Given the description of an element on the screen output the (x, y) to click on. 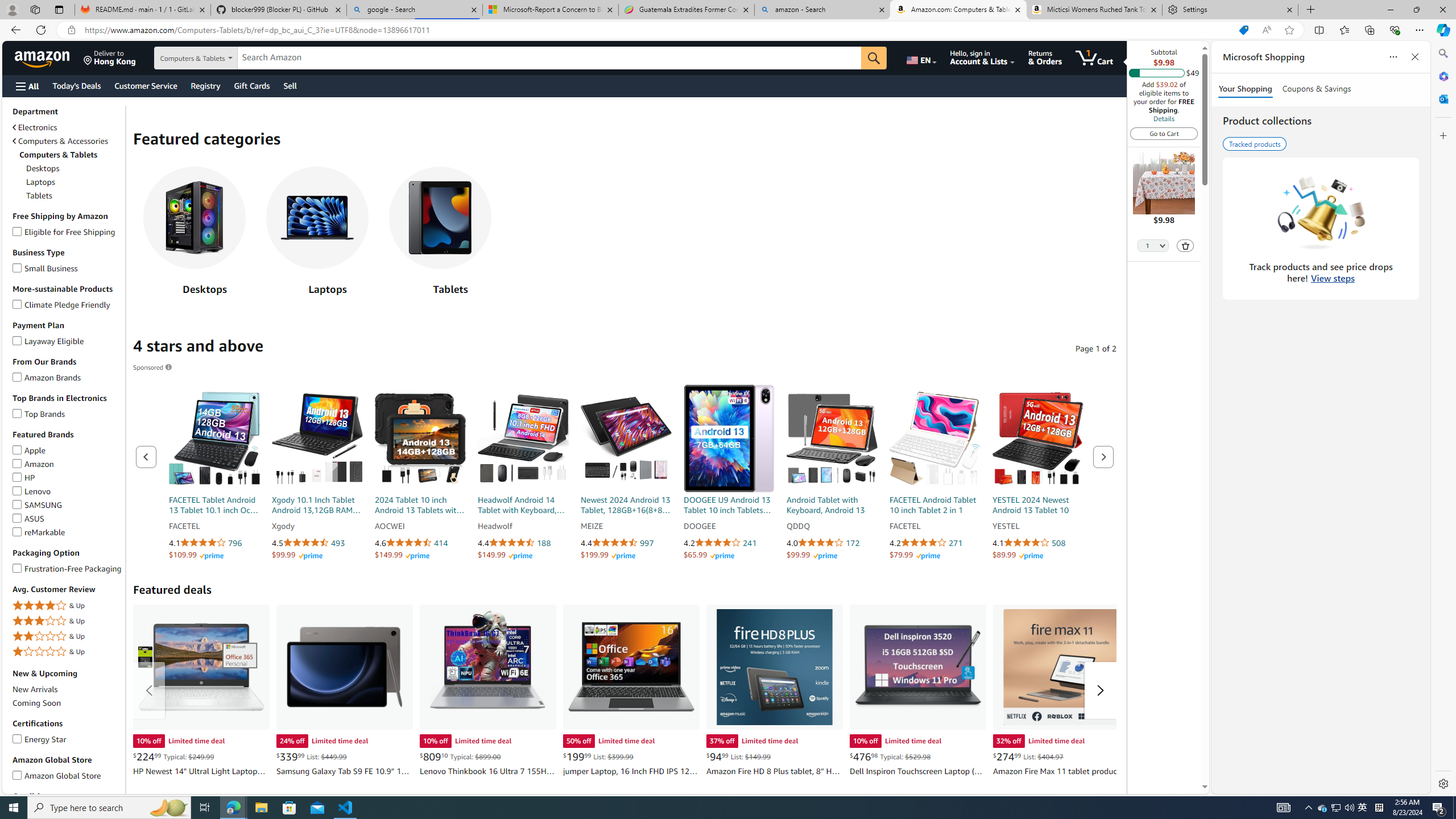
Desktops (194, 234)
$109.99 Amazon Prime (196, 554)
Lenovo Lenovo (31, 490)
Desktops (194, 217)
Climate Pledge FriendlyClimate Pledge Friendly (67, 304)
SAMSUNG (17, 501)
Returns & Orders (1045, 57)
